Given the description of an element on the screen output the (x, y) to click on. 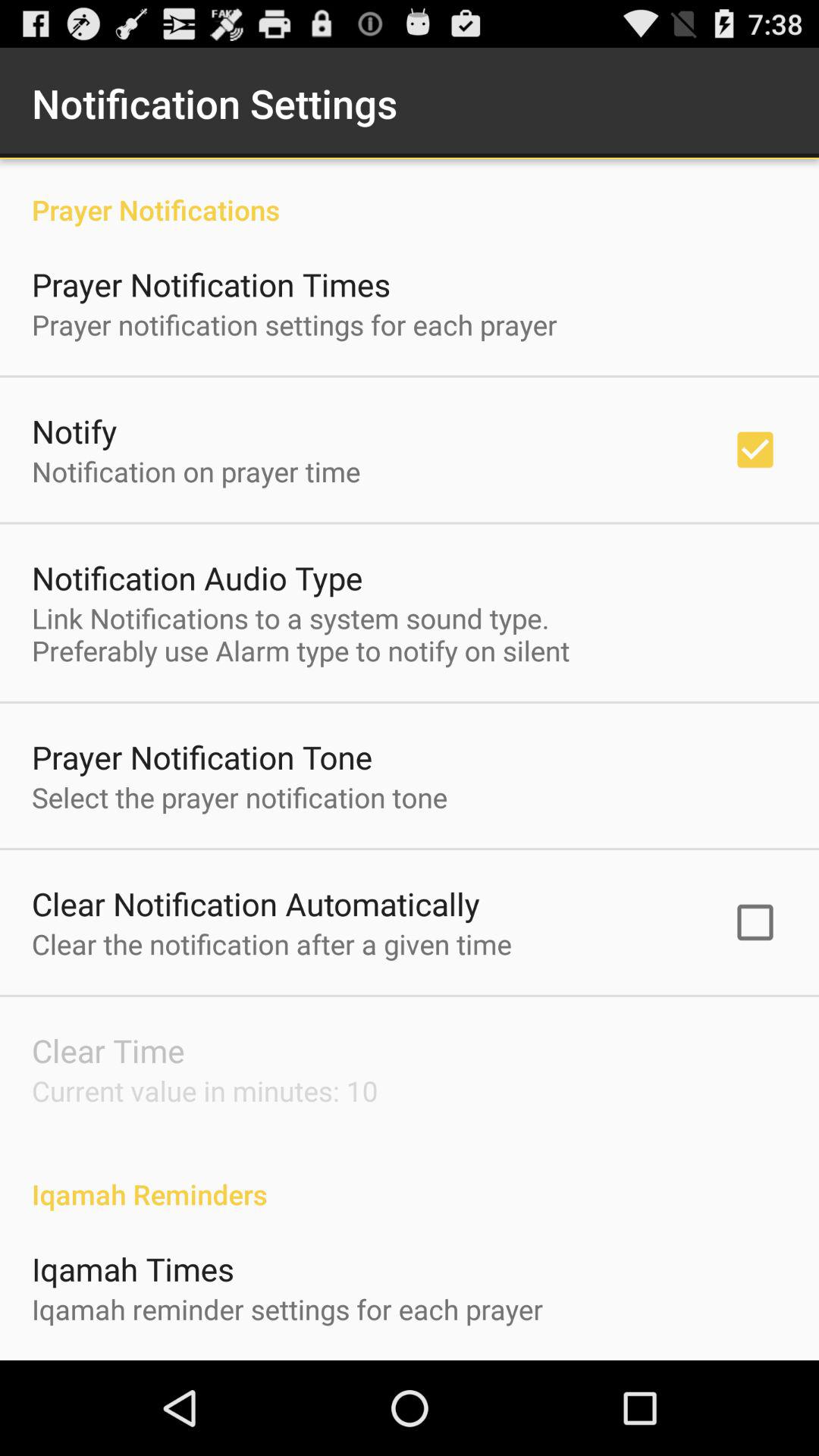
select current value in app (204, 1090)
